Given the description of an element on the screen output the (x, y) to click on. 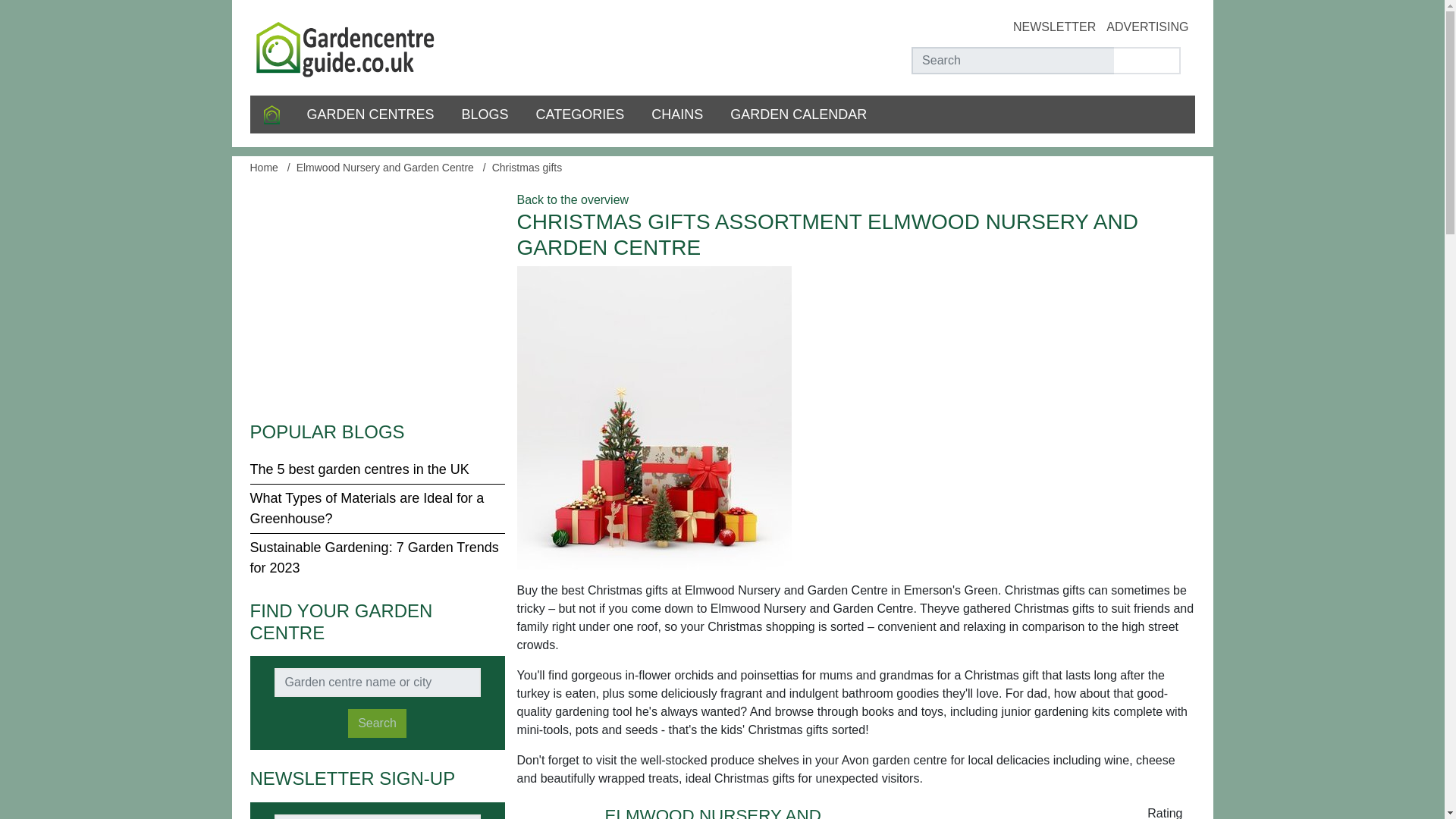
CHAINS (676, 114)
What Types of Materials are Ideal for a Greenhouse? (367, 508)
Christmas gifts (527, 167)
Sustainable Gardening: 7 Garden Trends for 2023 (374, 557)
CATEGORIES (580, 114)
Home (264, 167)
BLOGS (485, 114)
Home (272, 114)
Blogs (485, 114)
The 5 best garden centres in the UK (359, 468)
